Given the description of an element on the screen output the (x, y) to click on. 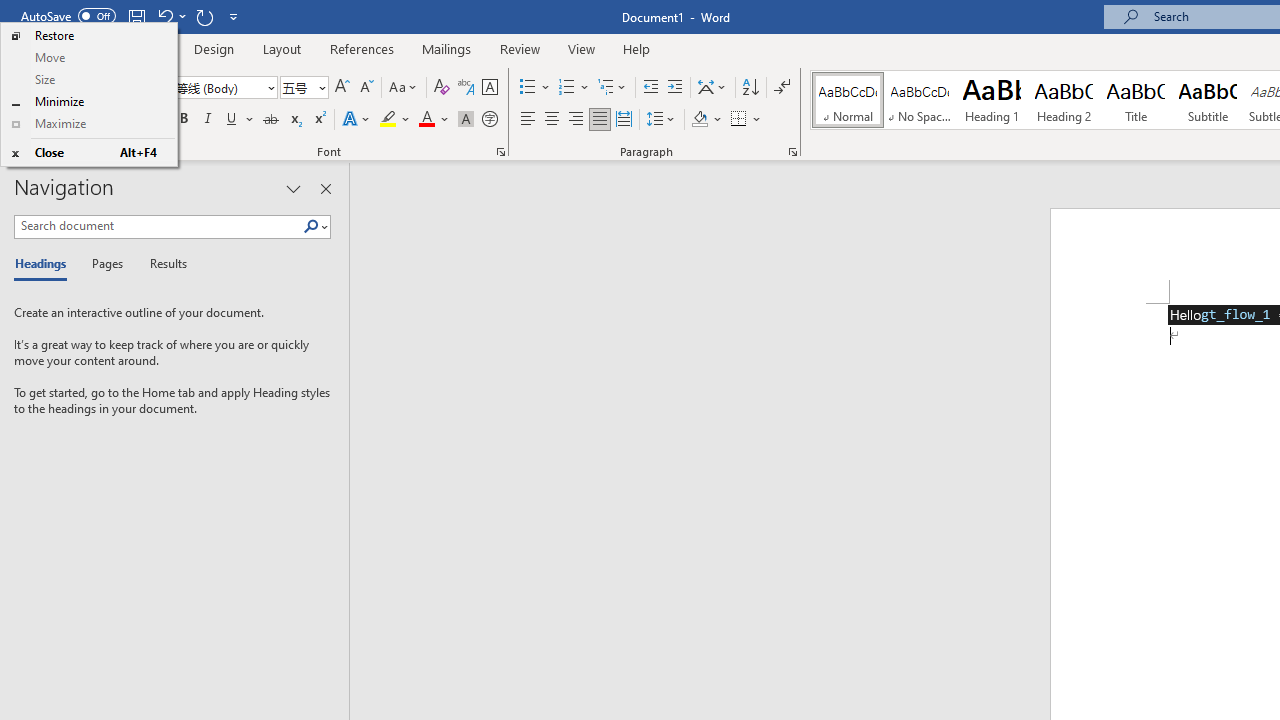
Title (1135, 100)
Heading 2 (1063, 100)
Repeat Paste (204, 15)
